Given the description of an element on the screen output the (x, y) to click on. 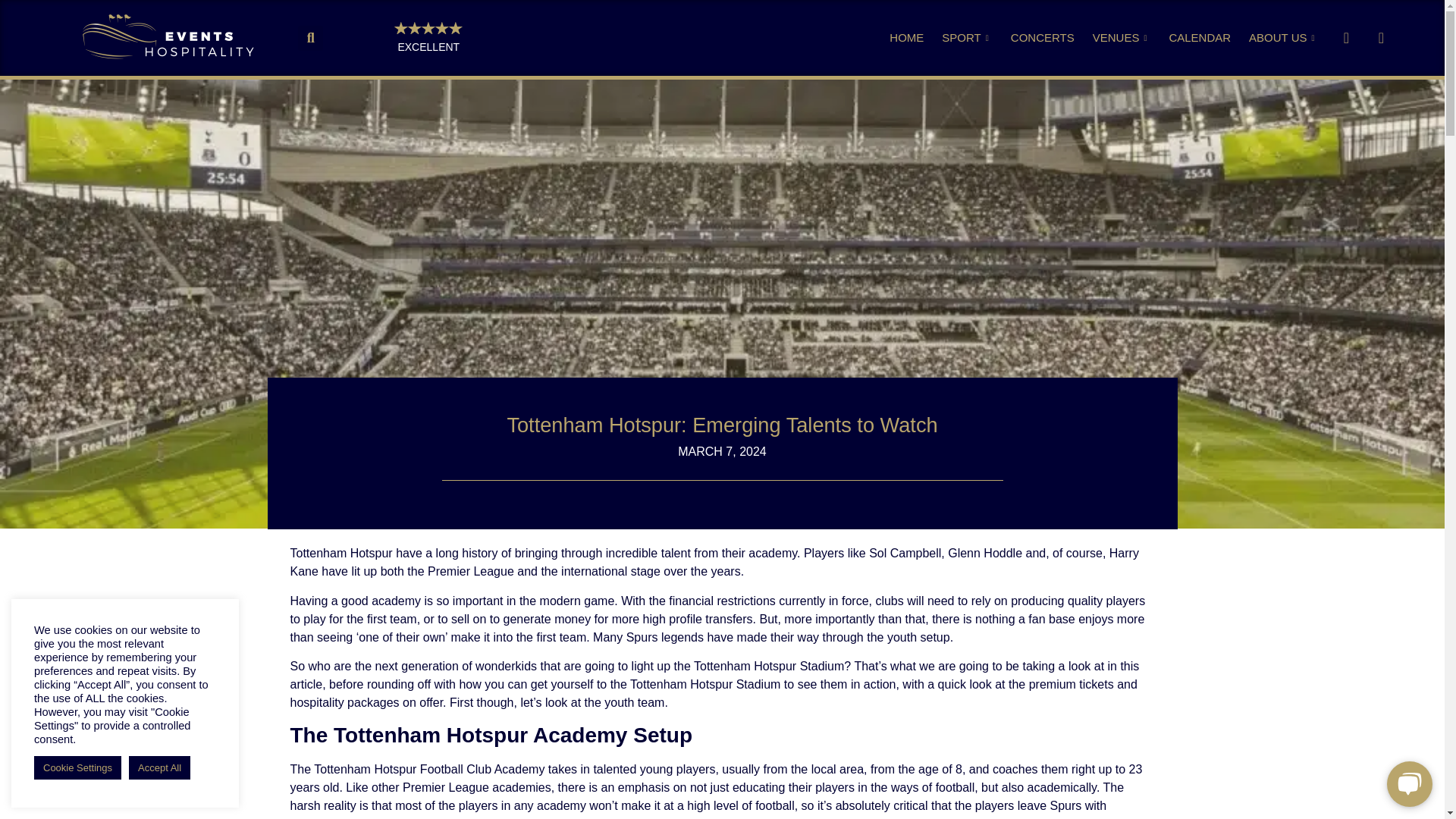
SPORT (966, 37)
Events Hospitality (168, 37)
Review Rating (428, 28)
HOME (905, 37)
CONCERTS (1042, 37)
EXCELLENT (428, 46)
VENUES (1121, 37)
